Given the description of an element on the screen output the (x, y) to click on. 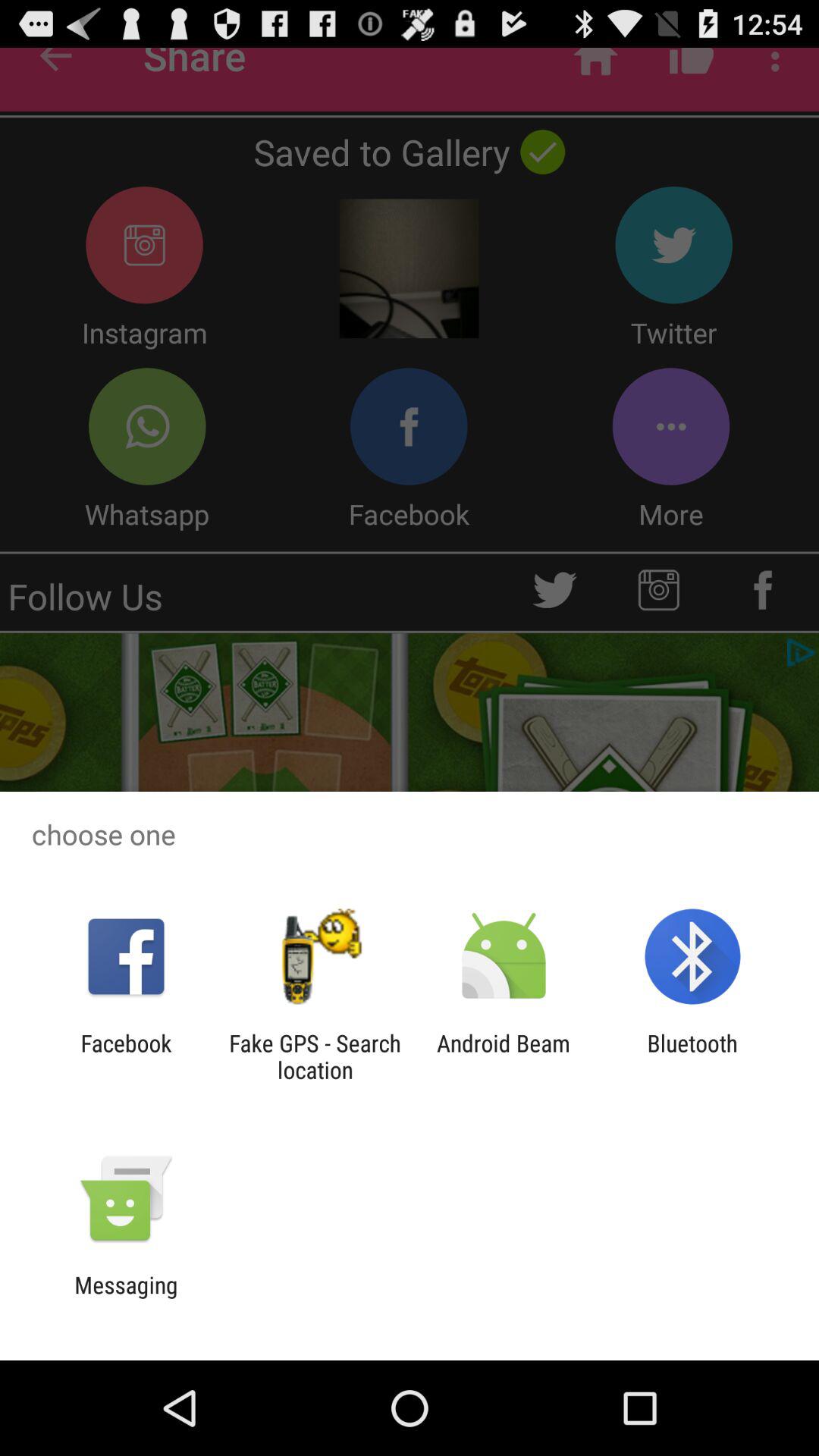
click the fake gps search item (314, 1056)
